Given the description of an element on the screen output the (x, y) to click on. 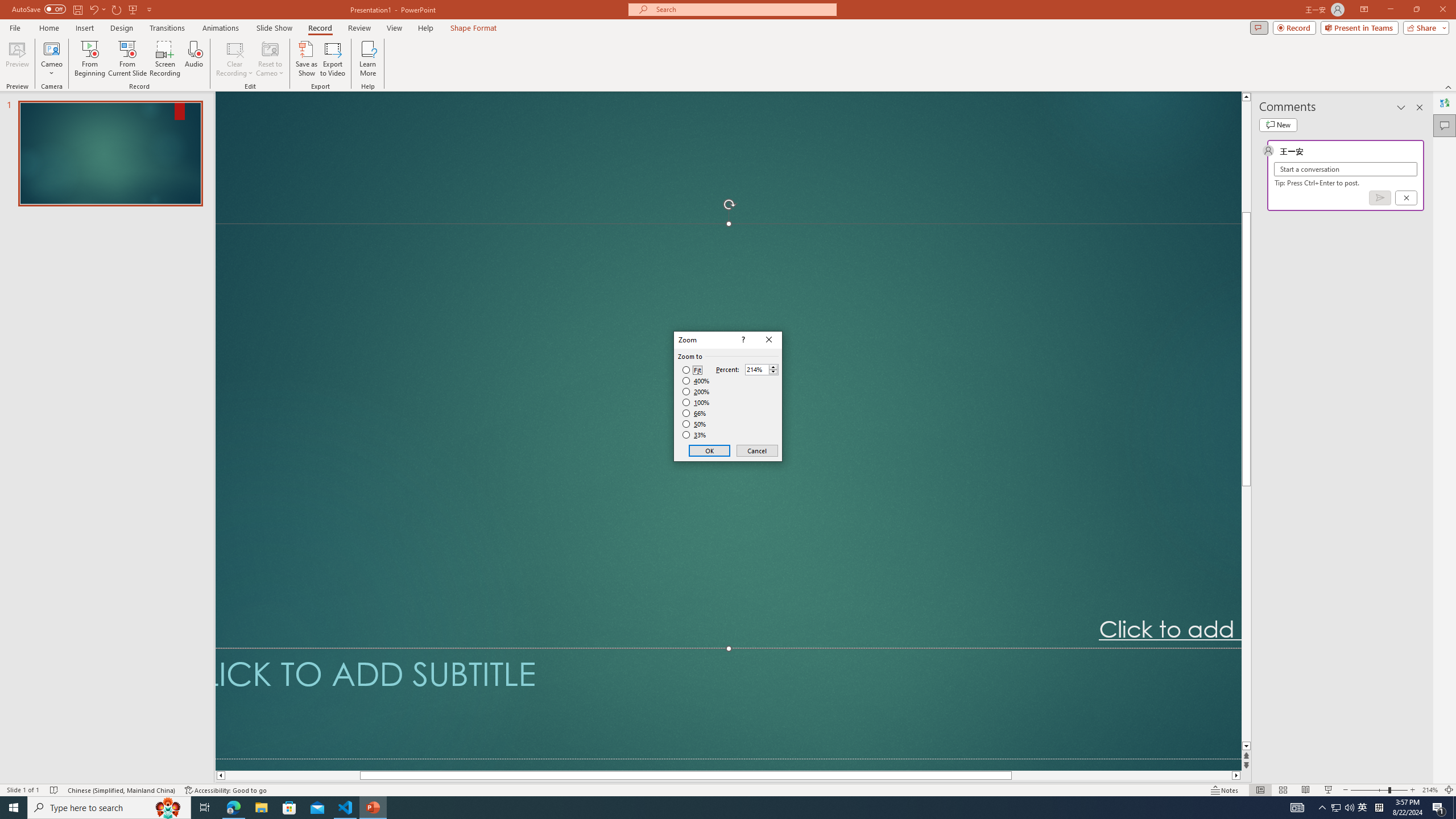
33% (694, 434)
